Given the description of an element on the screen output the (x, y) to click on. 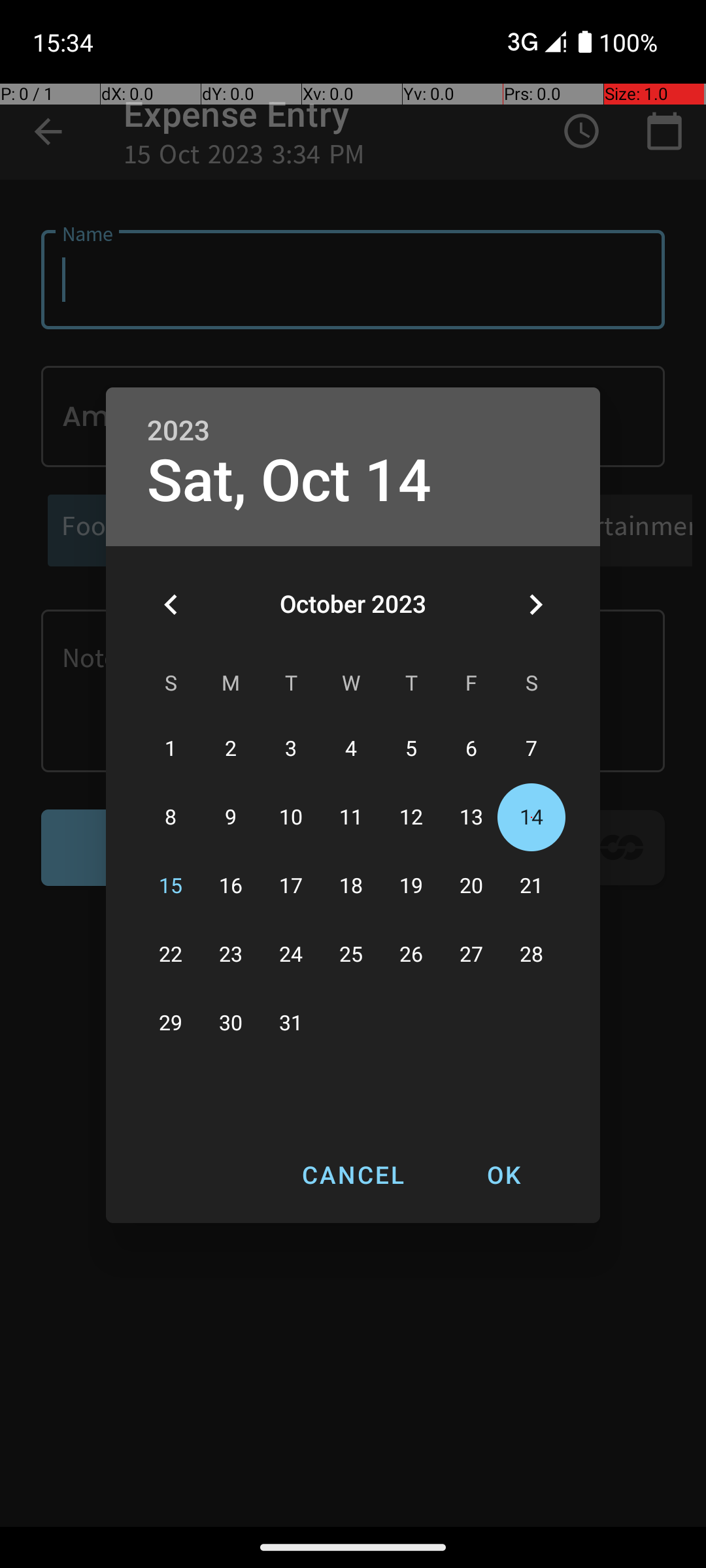
Sat, Oct 14 Element type: android.widget.TextView (289, 480)
